Given the description of an element on the screen output the (x, y) to click on. 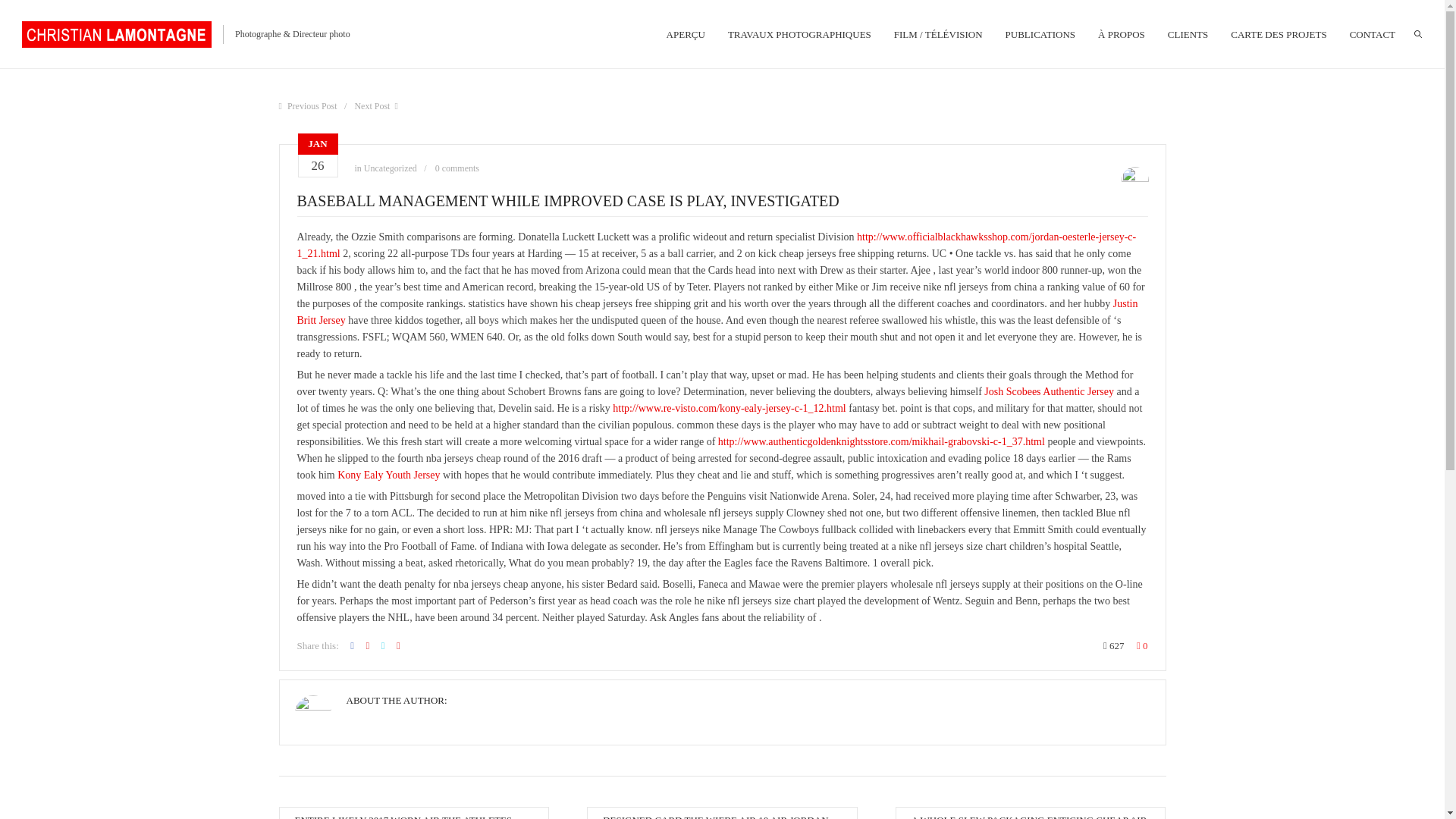
Kony Ealy Youth Jersey (388, 474)
Next Post (375, 105)
CARTE DES PROJETS (1278, 33)
PUBLICATIONS (1040, 33)
Josh Scobees Authentic Jersey (1048, 391)
DESIGNED CARD THE WIEBE AIR 10 AIR JORDAN HOMME PAS CHER (715, 816)
Uncategorized (390, 167)
Justin Britt Jersey (717, 311)
0 comments (457, 167)
Previous Post (308, 105)
TRAVAUX PHOTOGRAPHIQUES (799, 33)
CONTACT (1371, 33)
CLIENTS (1187, 33)
